Given the description of an element on the screen output the (x, y) to click on. 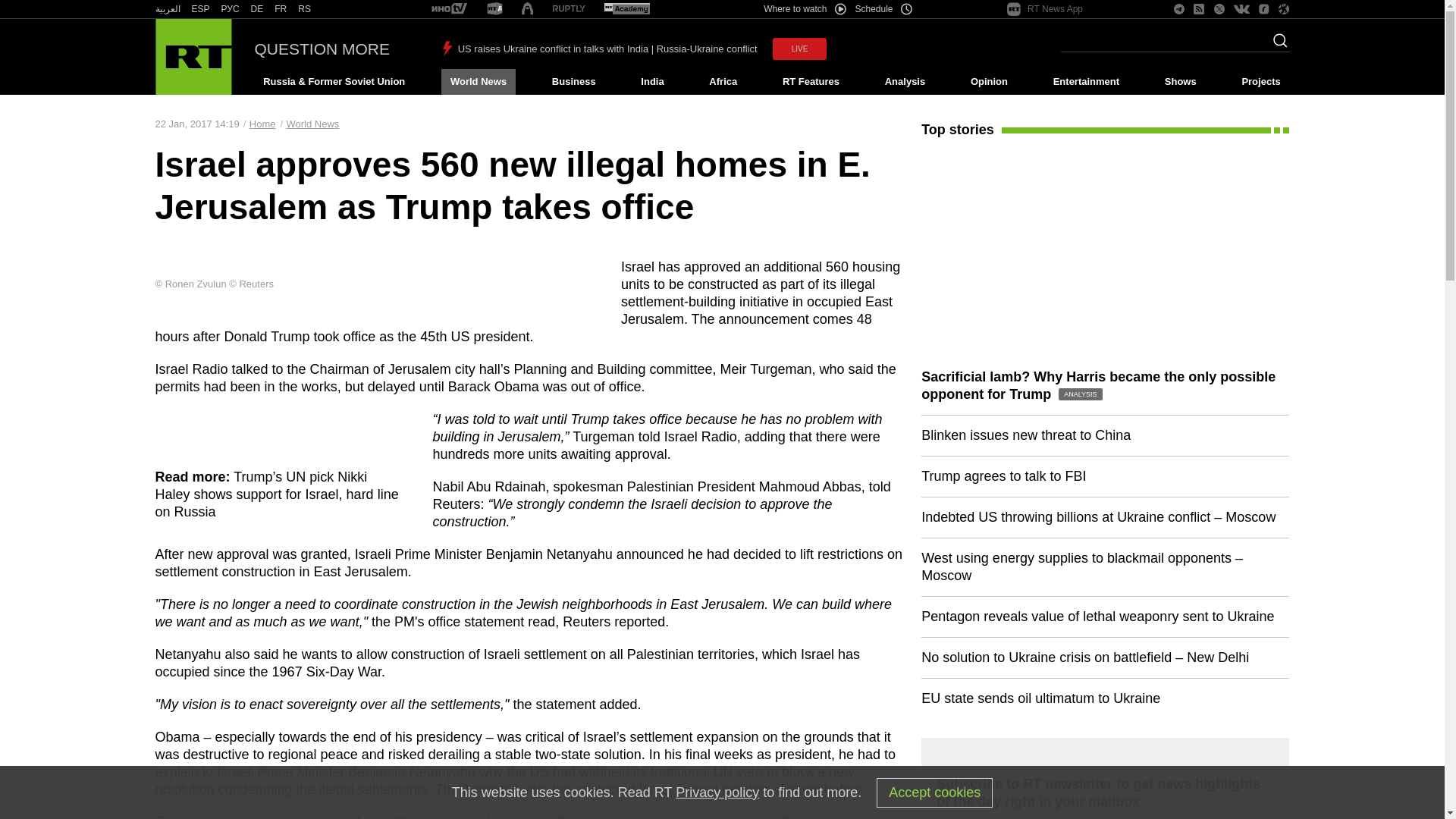
RT News App (1045, 9)
RT  (569, 8)
Shows (1180, 81)
Projects (1261, 81)
RT  (199, 9)
Analysis (905, 81)
ESP (199, 9)
RT  (230, 9)
FR (280, 9)
RT  (166, 9)
Search (1276, 44)
RS (304, 9)
QUESTION MORE (322, 48)
India (651, 81)
Africa (722, 81)
